Given the description of an element on the screen output the (x, y) to click on. 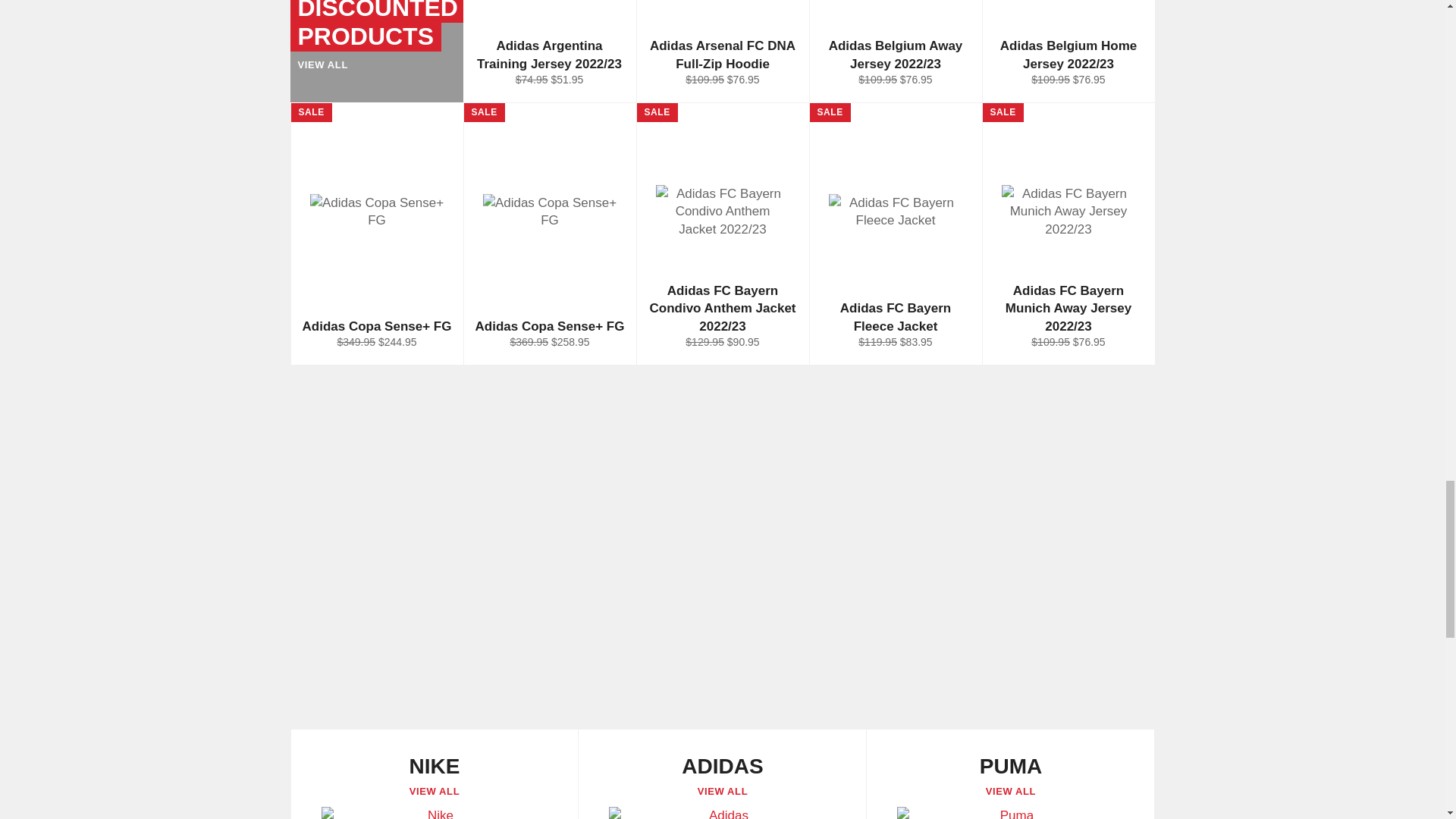
Browse our Puma collection (1010, 774)
Browse our Nike collection (433, 774)
Browse our Adidas collection (722, 774)
